Given the description of an element on the screen output the (x, y) to click on. 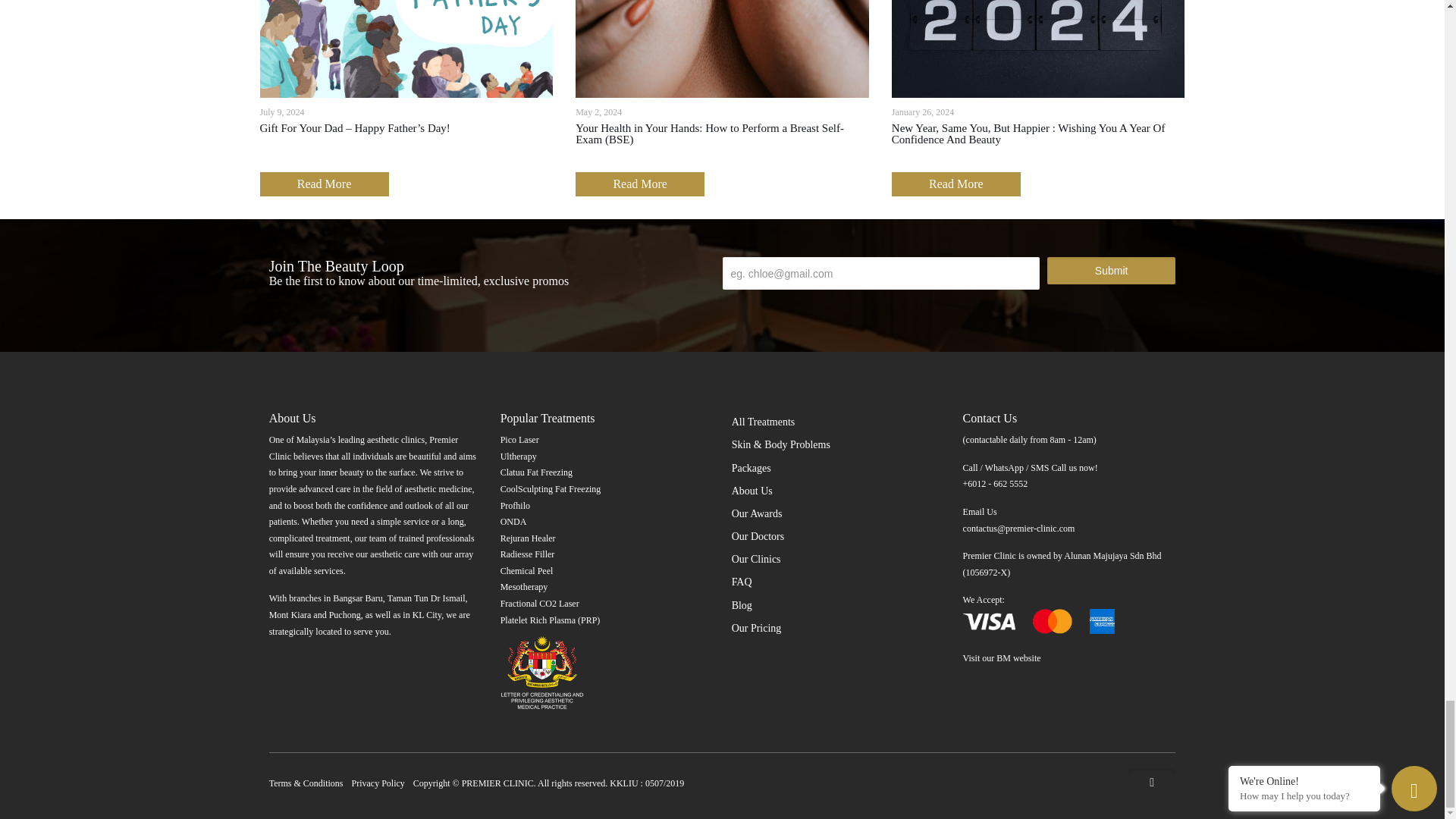
Submit (1110, 270)
